Given the description of an element on the screen output the (x, y) to click on. 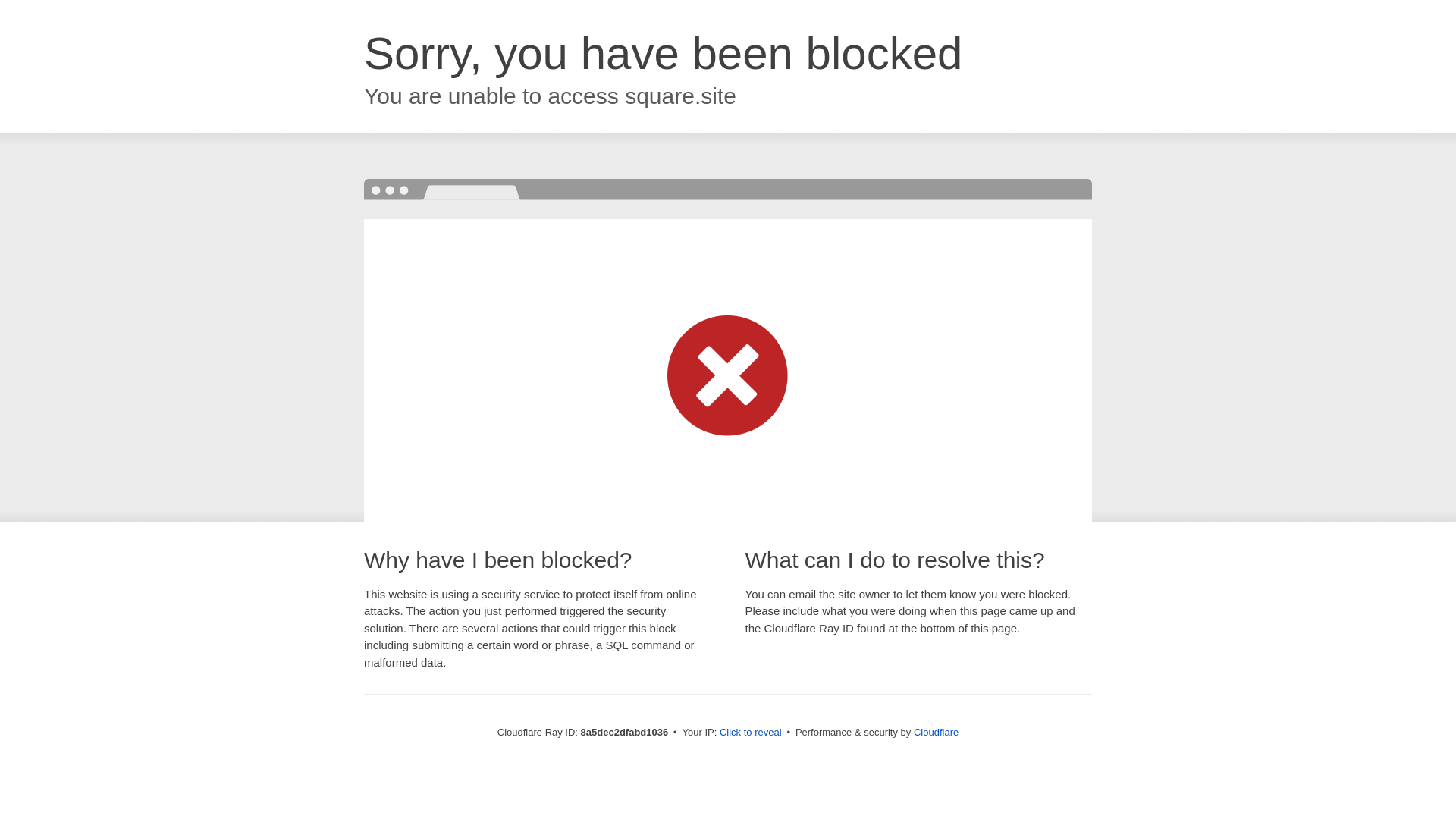
Cloudflare (936, 731)
Click to reveal (750, 732)
